Given the description of an element on the screen output the (x, y) to click on. 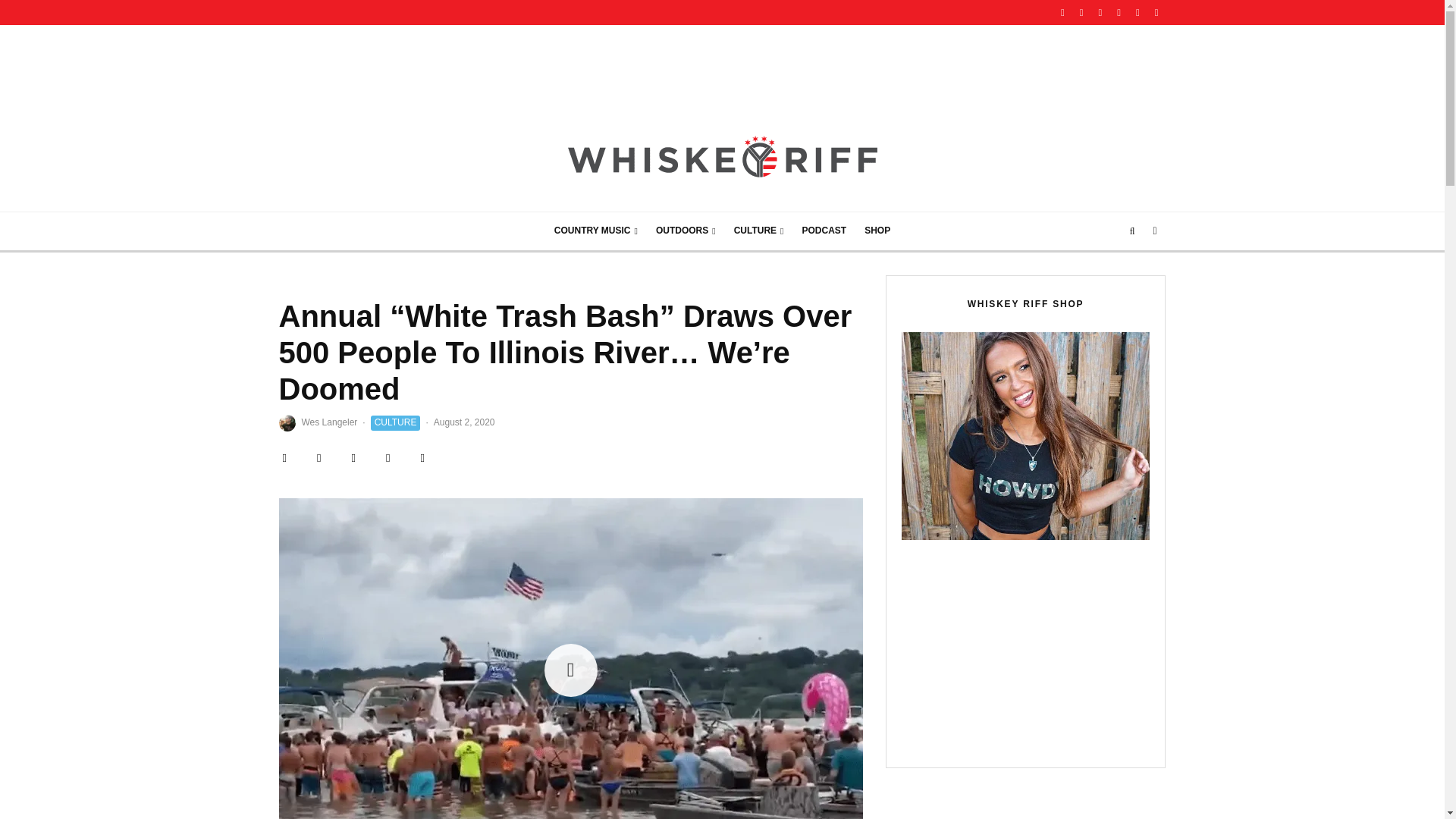
OUTDOORS (685, 231)
CULTURE (759, 231)
COUNTRY MUSIC (595, 231)
